Given the description of an element on the screen output the (x, y) to click on. 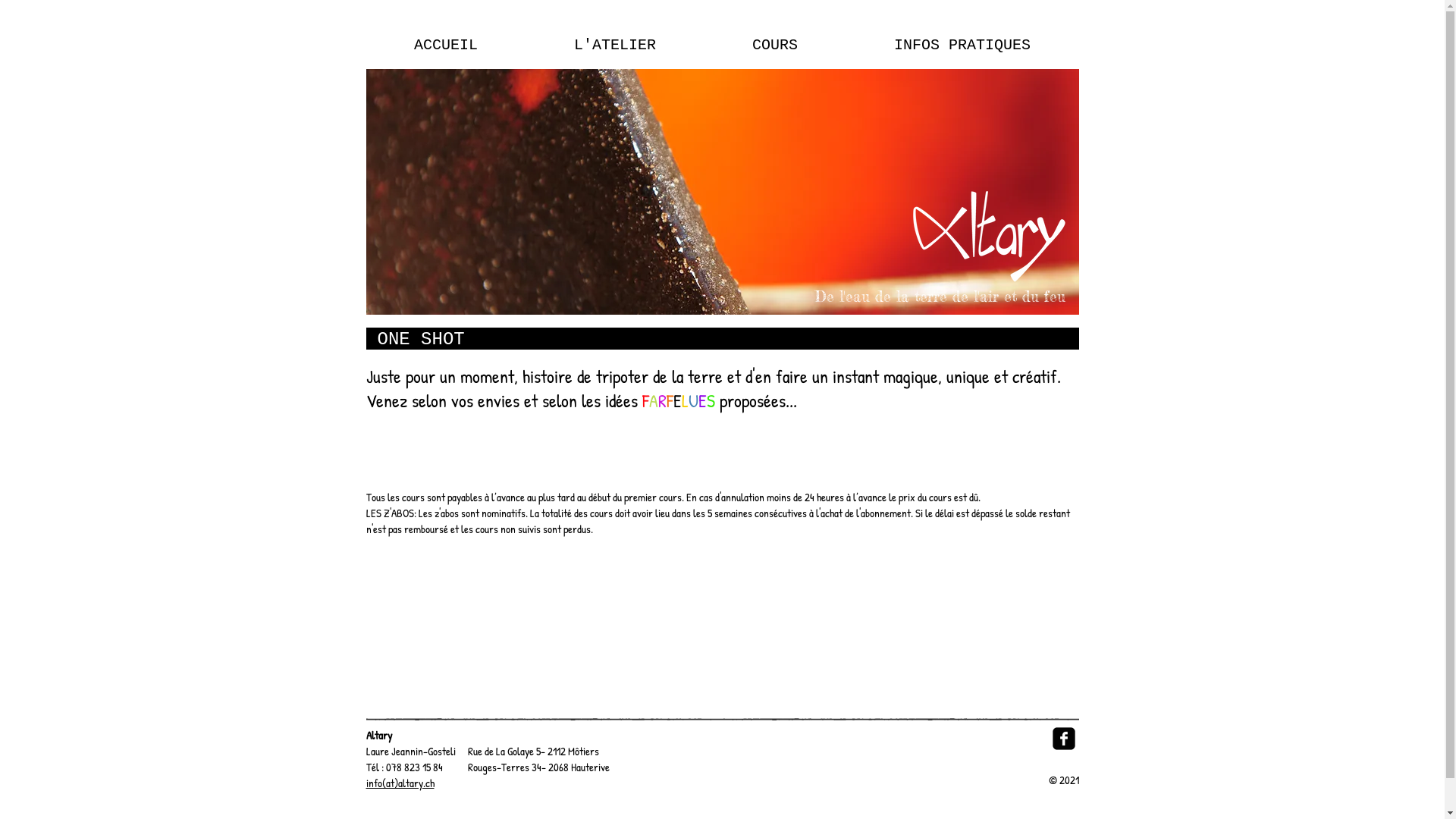
ACCUEIL Element type: text (445, 45)
